Given the description of an element on the screen output the (x, y) to click on. 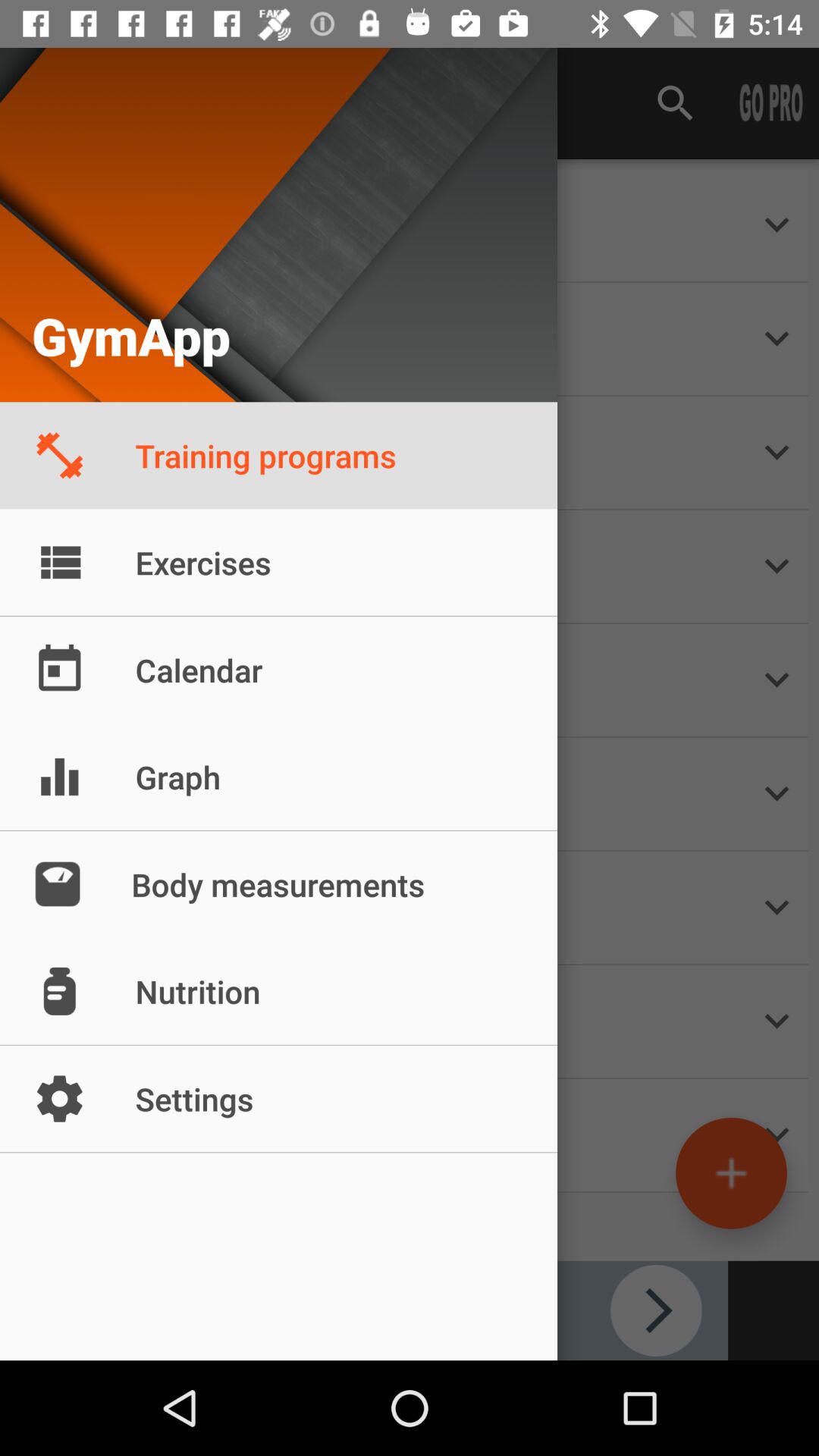
select the arrow which is to the right side of calendar (776, 680)
